Given the description of an element on the screen output the (x, y) to click on. 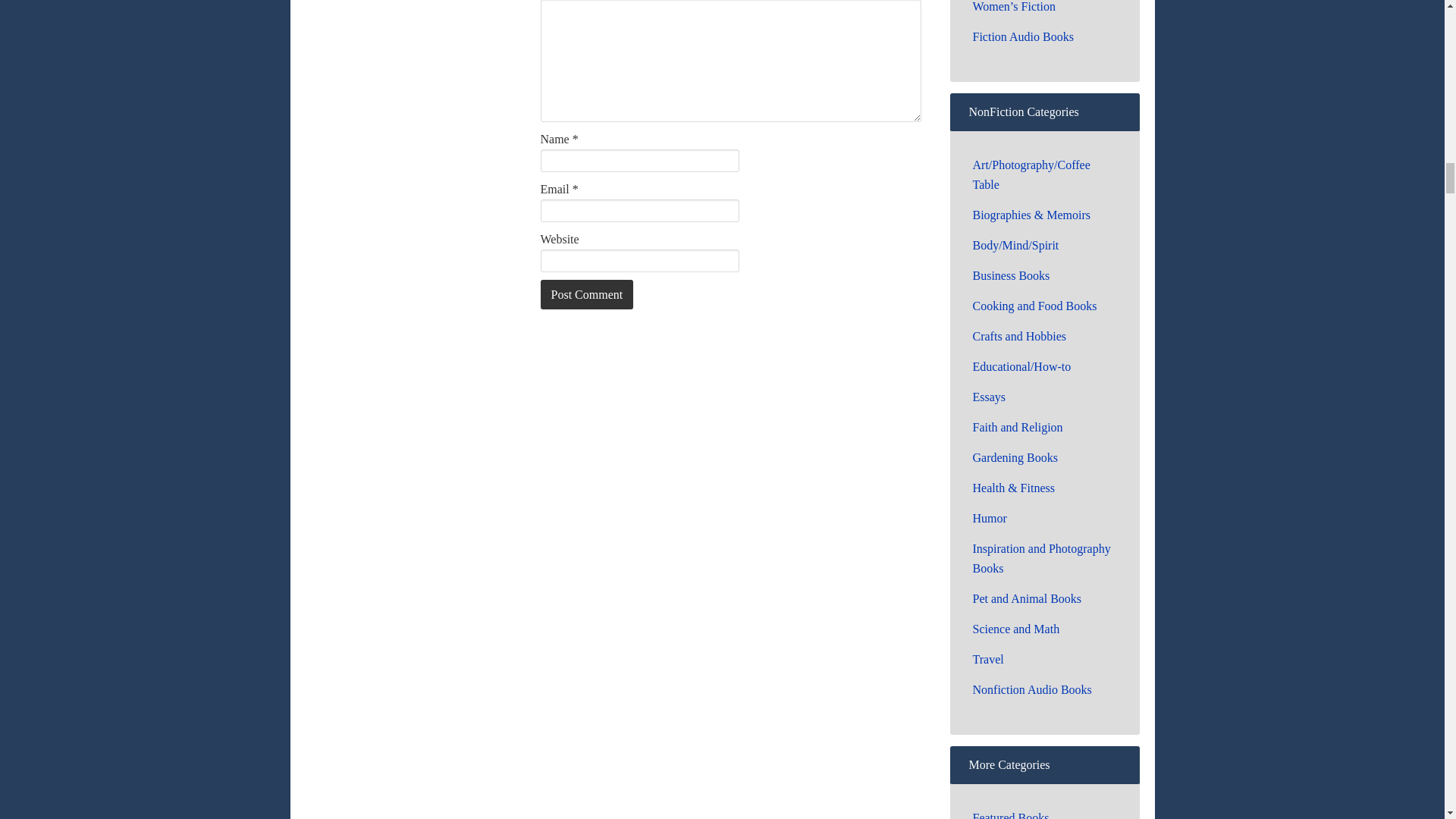
Post Comment (586, 294)
